Given the description of an element on the screen output the (x, y) to click on. 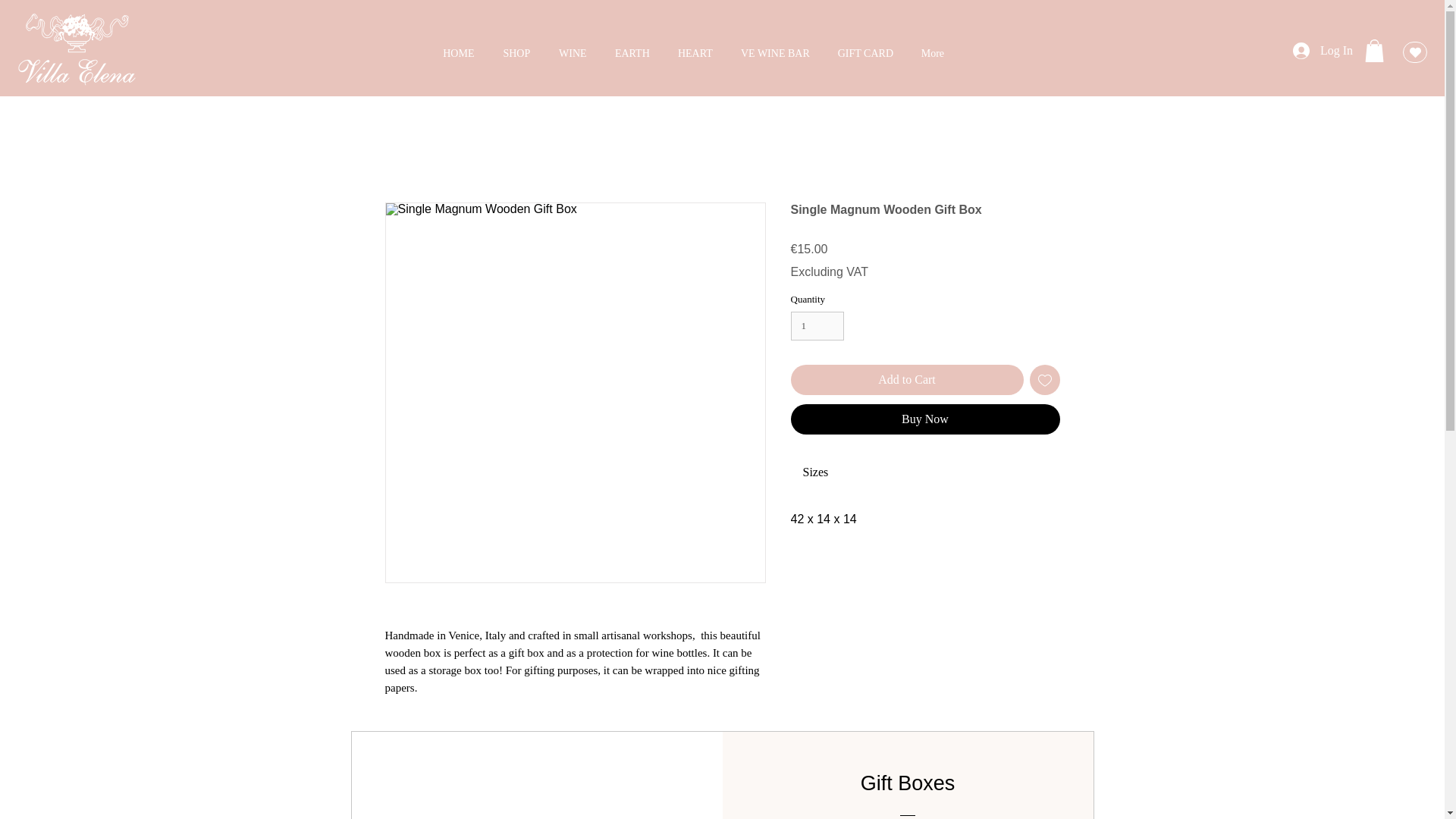
EARTH (631, 46)
Use right and left arrows to navigate between tabs (818, 472)
WINE (571, 46)
Log In (1315, 50)
SHOP (515, 46)
Add to Cart (906, 379)
HEART (694, 46)
GIFT CARD (865, 46)
HOME (457, 46)
1 (817, 326)
